Given the description of an element on the screen output the (x, y) to click on. 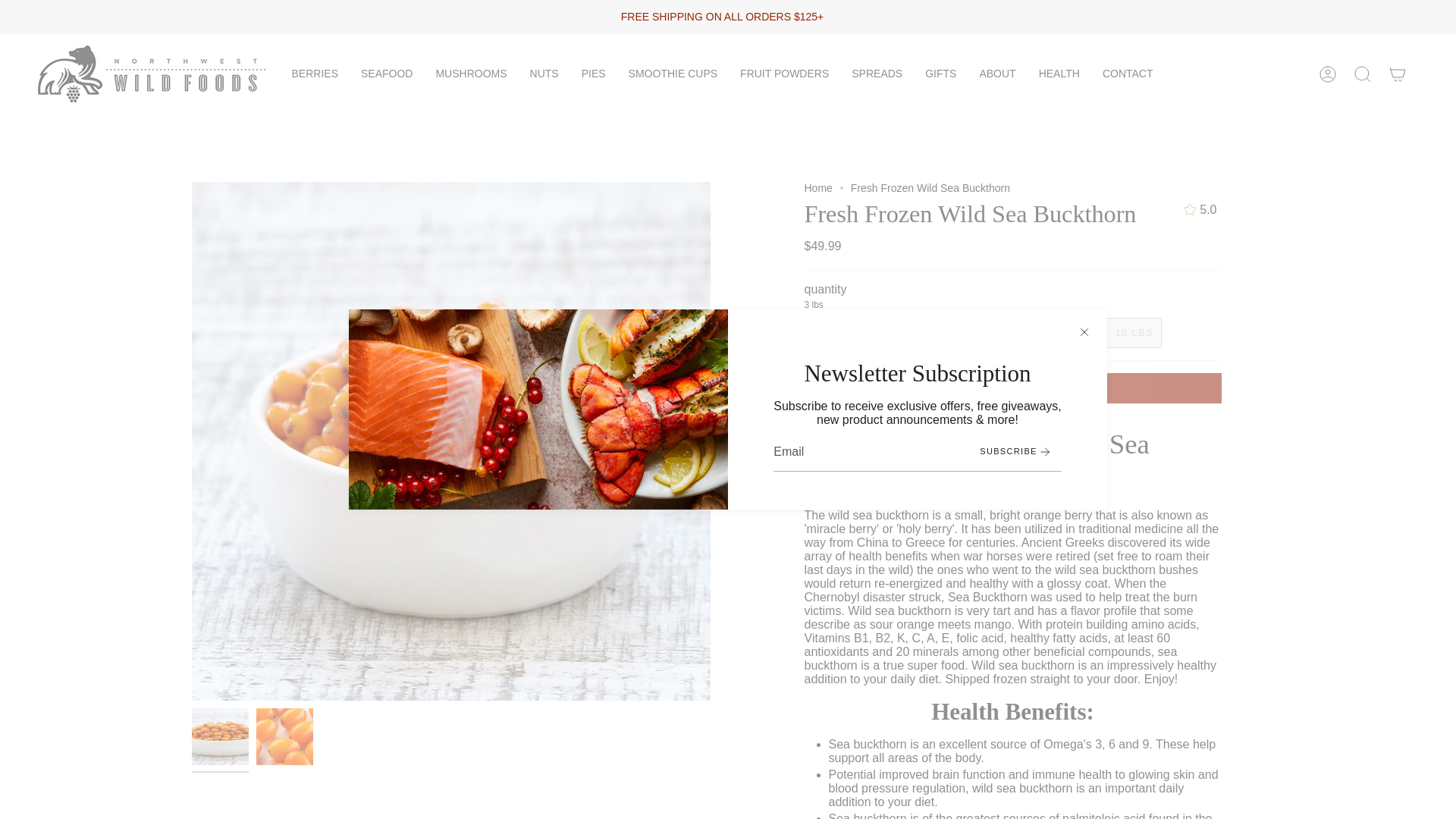
SMOOTHIE CUPS (673, 73)
PIES (593, 73)
FRUIT POWDERS (784, 73)
GIFTS (941, 73)
My Account (1327, 73)
ABOUT (997, 73)
MUSHROOMS (470, 73)
SEAFOOD (386, 73)
Cart (1397, 73)
NUTS (544, 73)
Close (1084, 331)
BERRIES (315, 73)
Search (1362, 73)
SPREADS (877, 73)
